Given the description of an element on the screen output the (x, y) to click on. 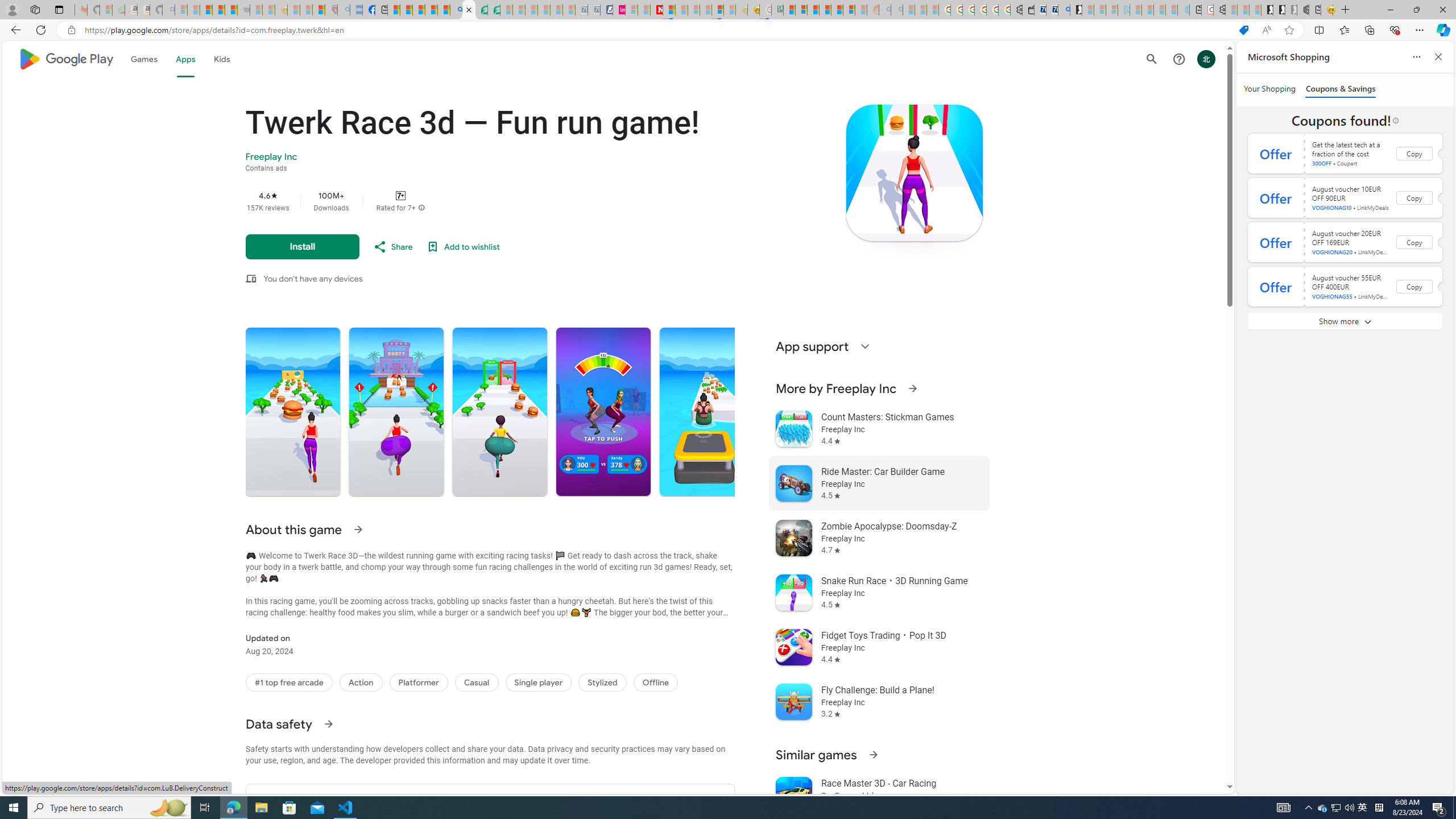
Freeplay Inc (270, 156)
Help Center (1178, 58)
Casual (476, 682)
